Given the description of an element on the screen output the (x, y) to click on. 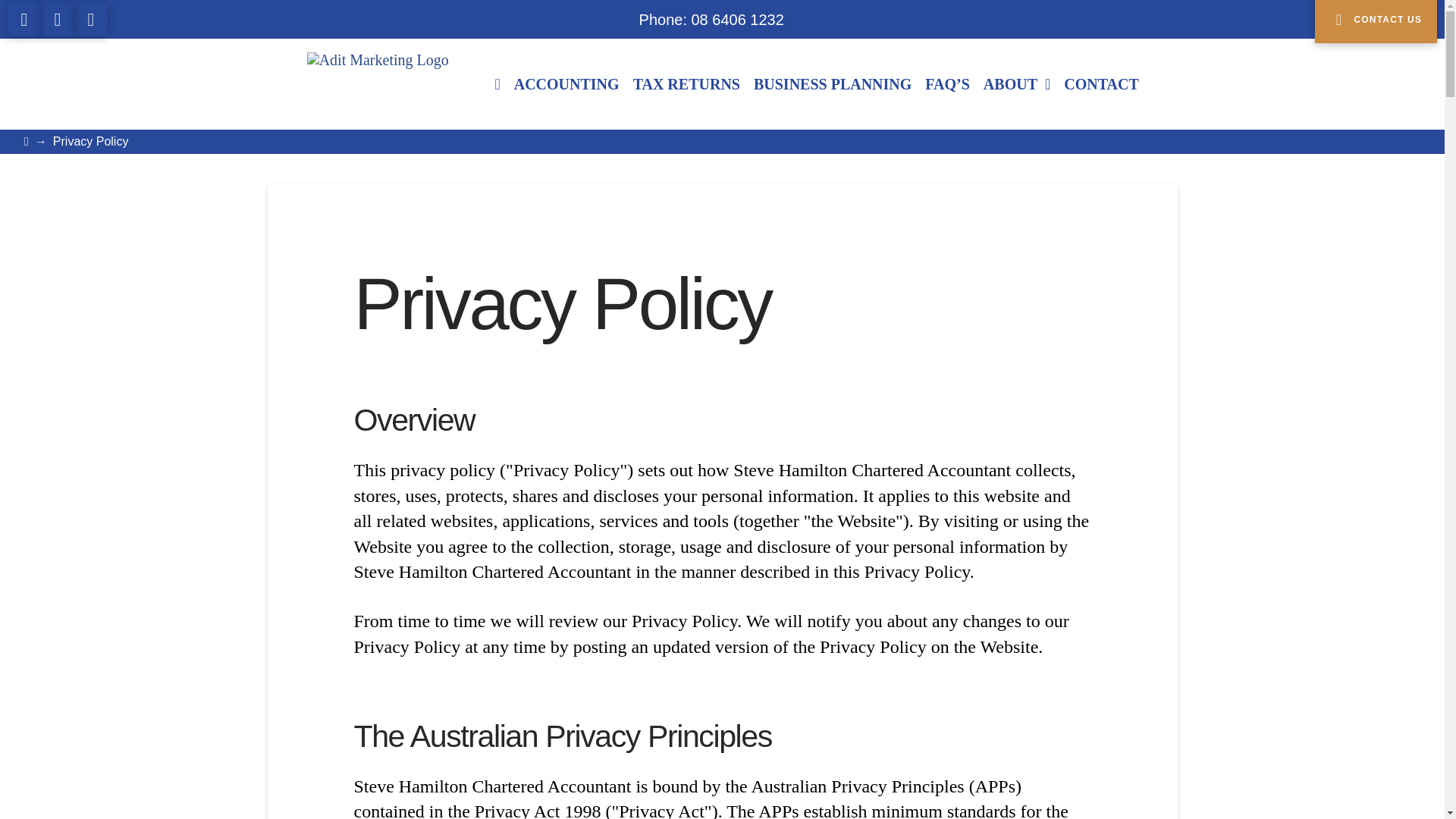
ABOUT (1016, 83)
You Are Here (90, 141)
BUSINESS PLANNING (832, 83)
CONTACT (1101, 83)
ACCOUNTING (566, 83)
TAX RETURNS (686, 83)
Phone: 08 6406 1232 (710, 18)
Privacy Policy (90, 141)
CONTACT US (1375, 21)
